Given the description of an element on the screen output the (x, y) to click on. 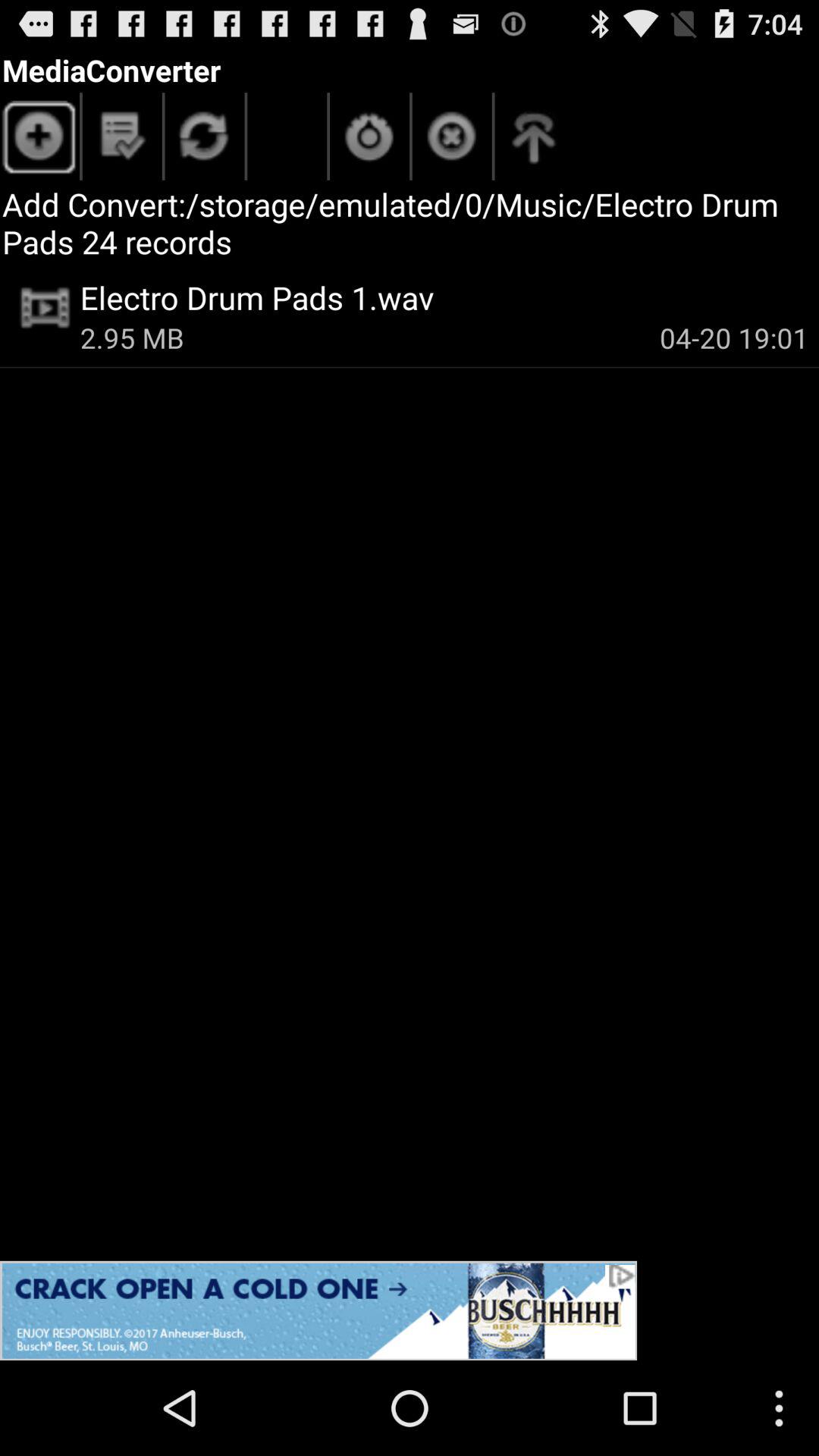
go to data (204, 140)
